Given the description of an element on the screen output the (x, y) to click on. 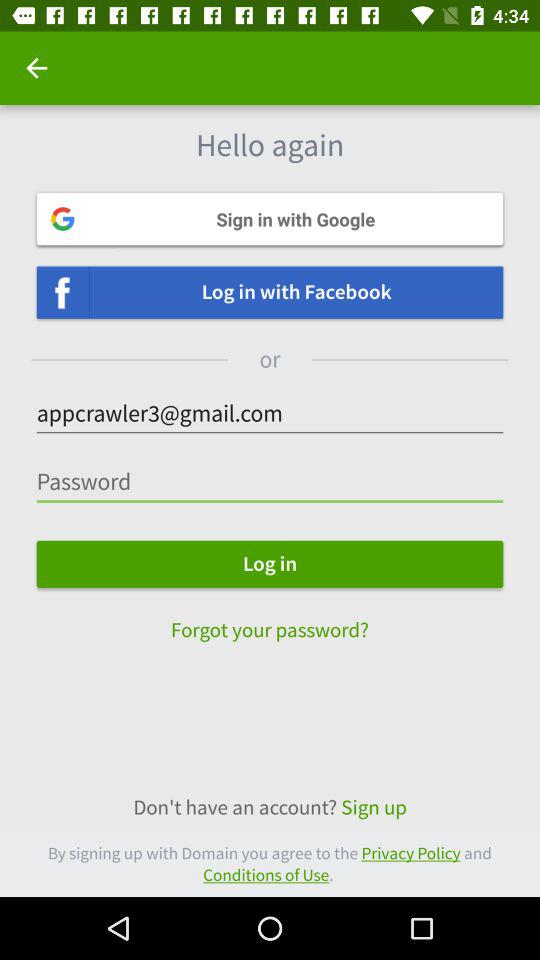
password (269, 482)
